Given the description of an element on the screen output the (x, y) to click on. 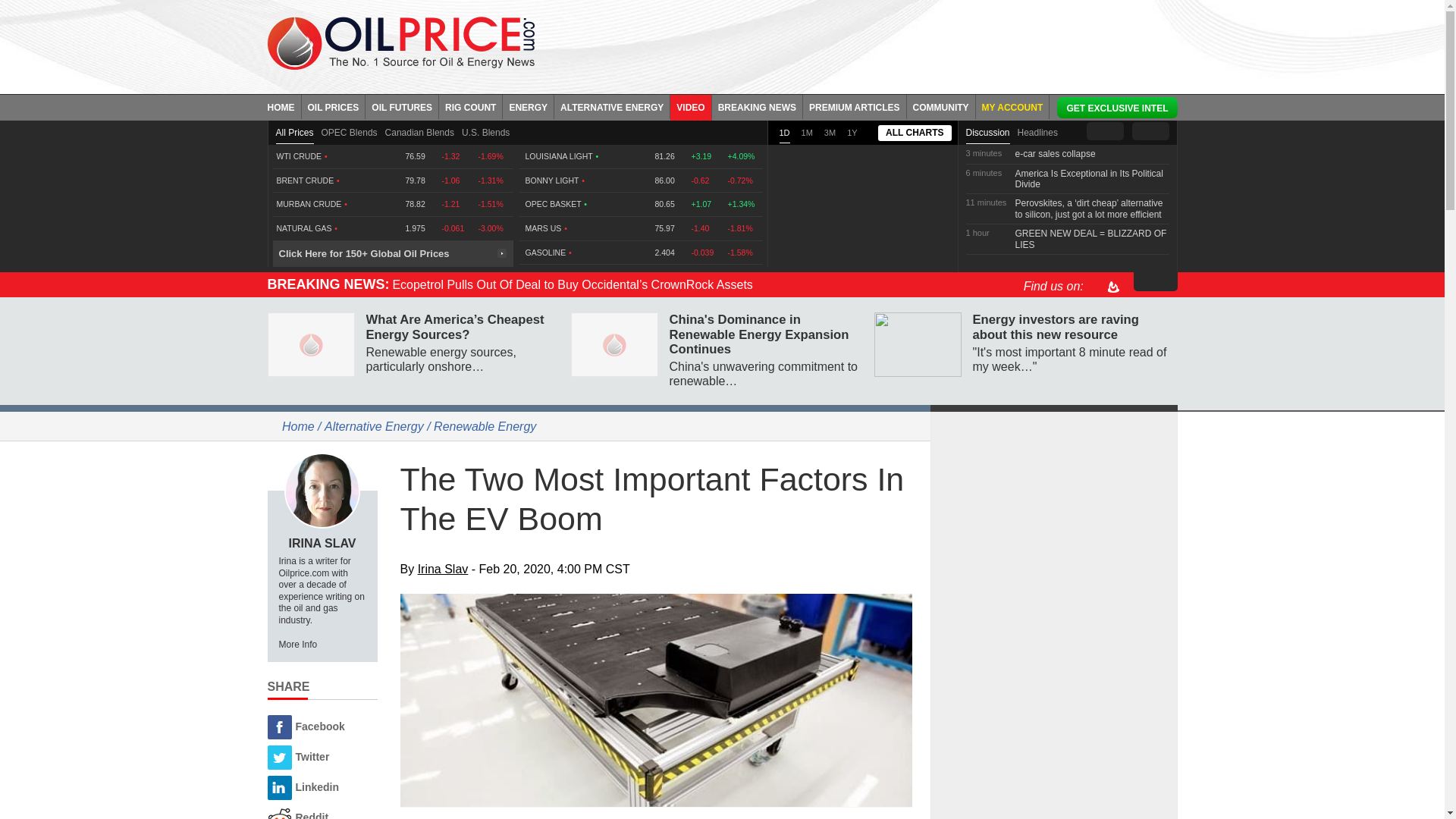
VIDEO (690, 106)
HOME (283, 106)
ALTERNATIVE ENERGY (611, 106)
OIL PRICES (333, 106)
COMMUNITY (941, 106)
Irina Slav (321, 490)
ENERGY (528, 106)
BREAKING NEWS (757, 106)
RIG COUNT (470, 106)
PREMIUM ARTICLES (855, 106)
Oil prices - Oilprice.com (400, 42)
MY ACCOUNT (1012, 106)
OIL FUTURES (402, 106)
Battery pack (656, 700)
